Given the description of an element on the screen output the (x, y) to click on. 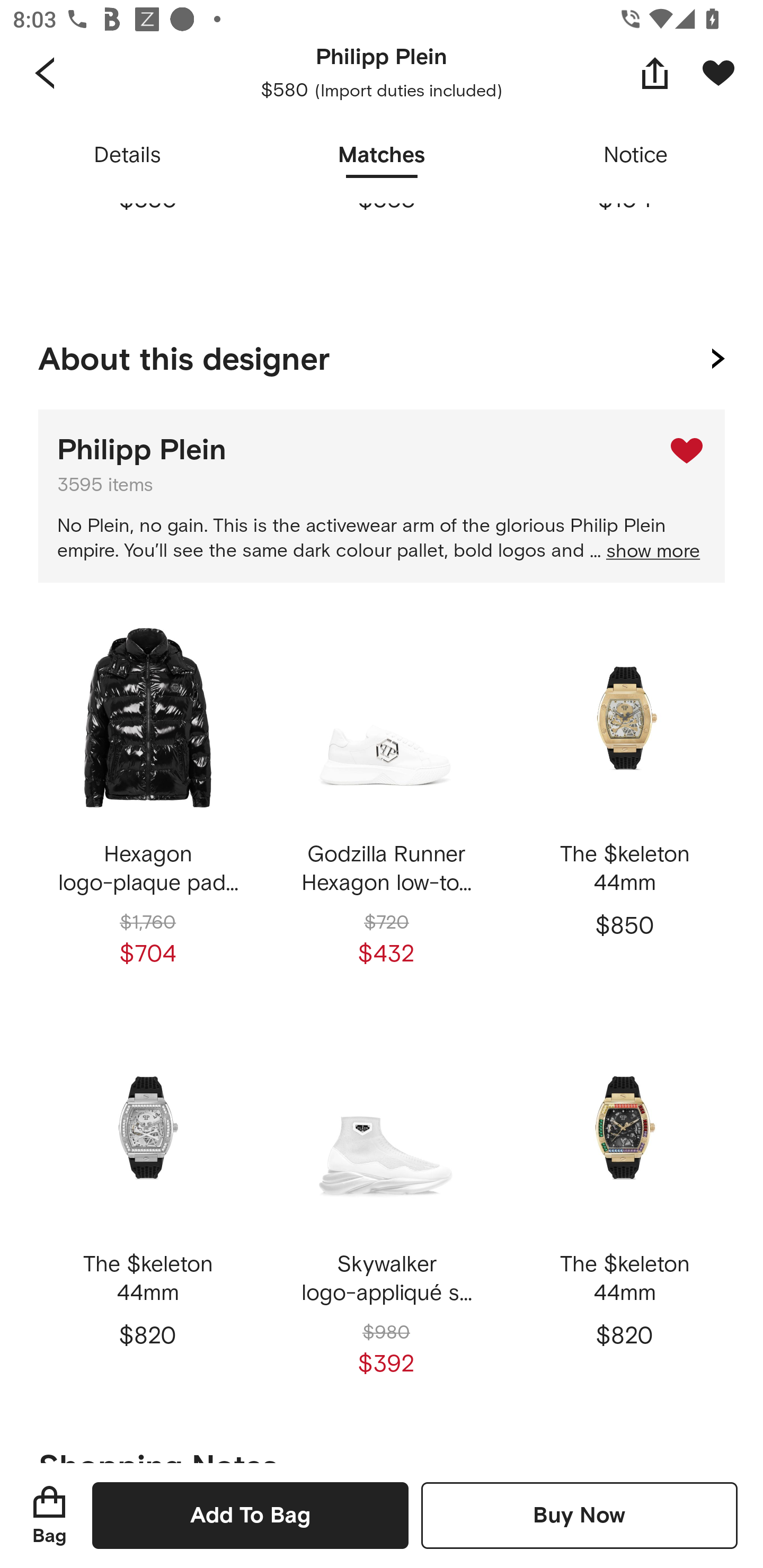
Details (127, 155)
Notice (635, 155)
About this designer (381, 355)
... show more (644, 551)
Hexagon logo-plaque padded jacket $1,760 $704 (147, 803)
The $keleton 44mm $850 (624, 803)
The $keleton 44mm $820 (147, 1213)
Skywalker logo-appliqué sneakers $980 $392 (385, 1213)
The $keleton 44mm $820 (624, 1213)
Bag (49, 1515)
Add To Bag (250, 1515)
Buy Now (579, 1515)
